Given the description of an element on the screen output the (x, y) to click on. 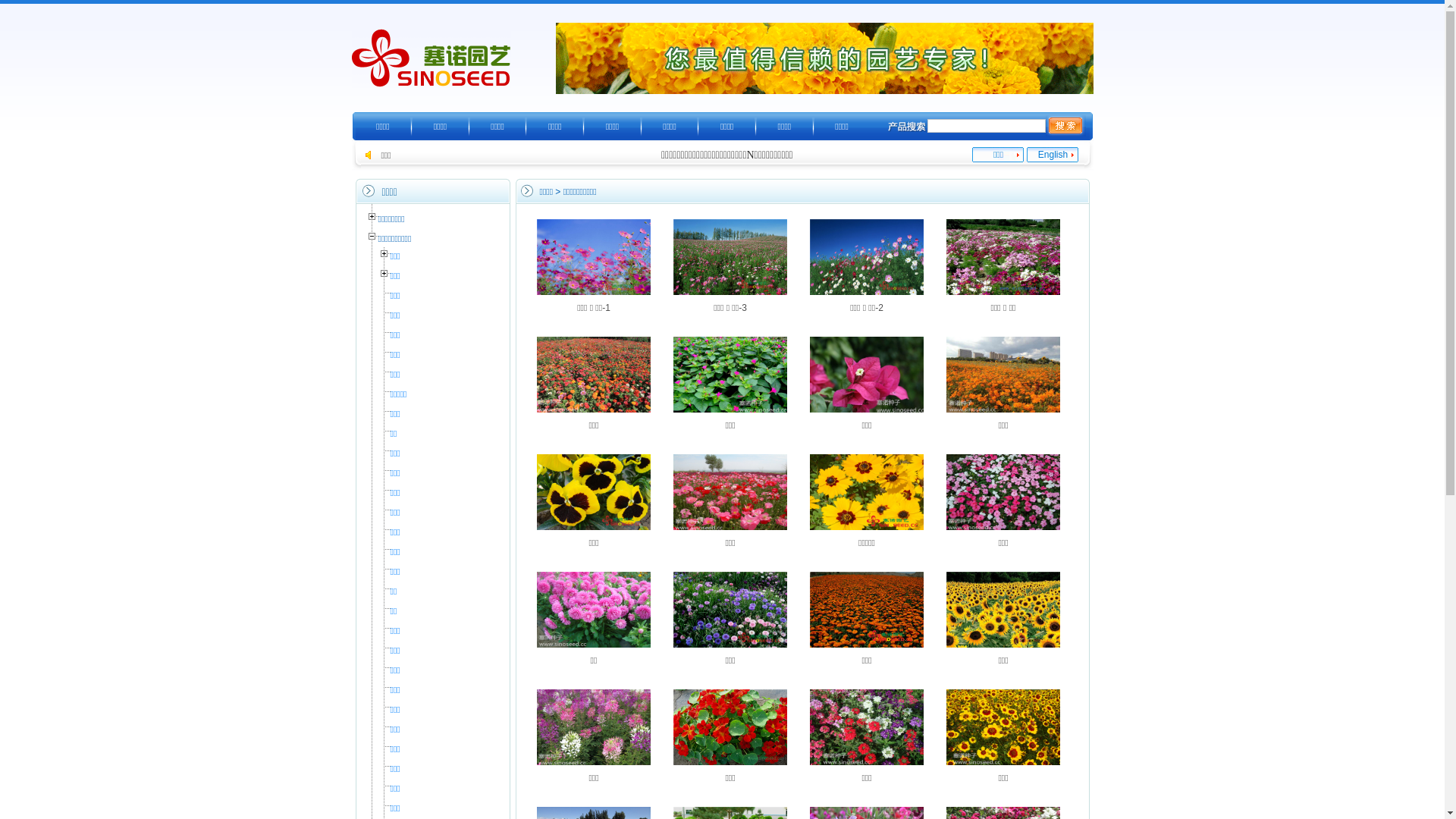
English Element type: text (1052, 154)
